Given the description of an element on the screen output the (x, y) to click on. 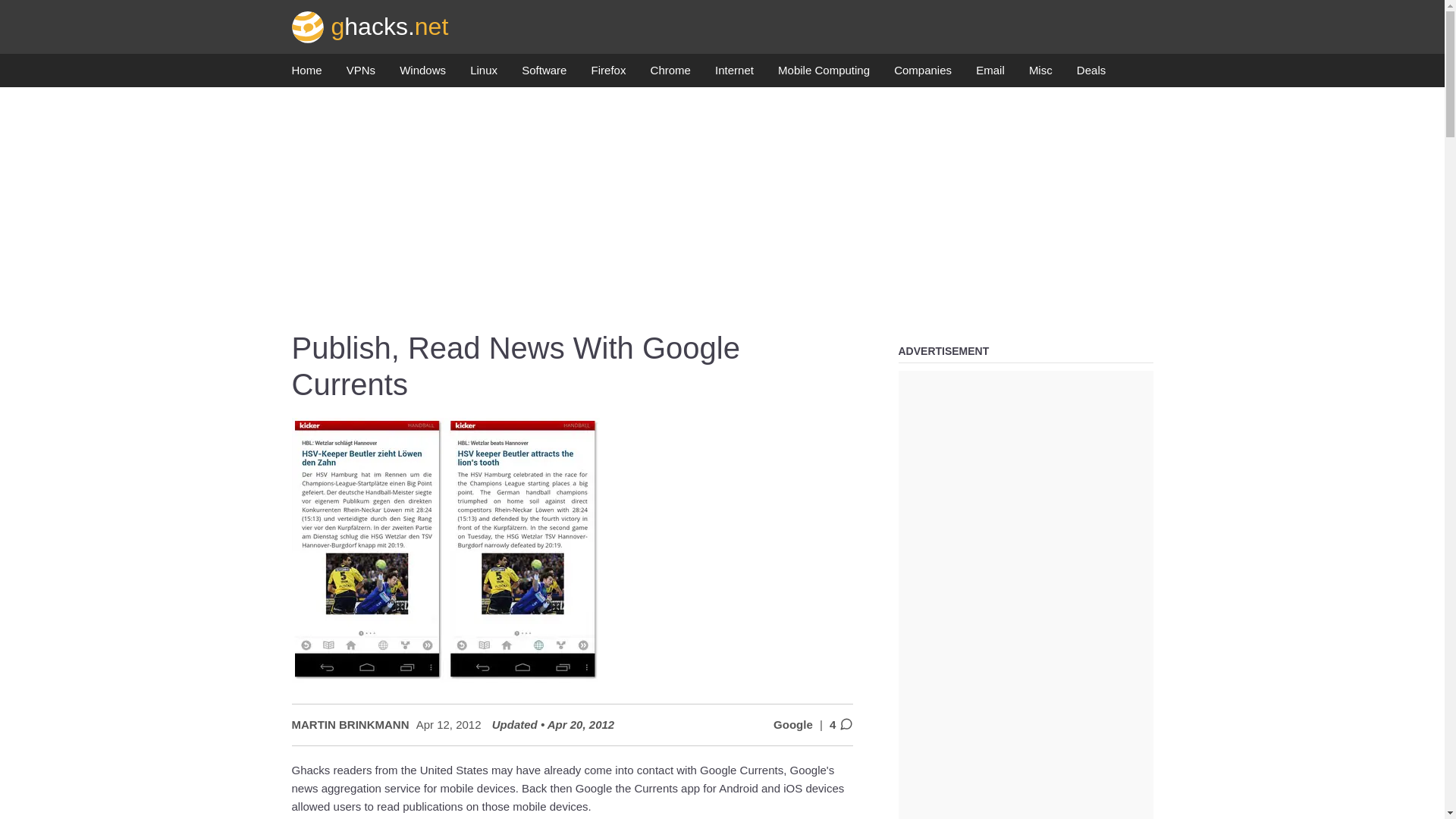
Mobile Computing (823, 73)
Deals (1091, 73)
ghacks.net (369, 26)
Companies (922, 73)
Linux (483, 73)
Chrome (670, 73)
Internet (734, 73)
Windows (421, 73)
Home (306, 73)
Software (543, 73)
